Given the description of an element on the screen output the (x, y) to click on. 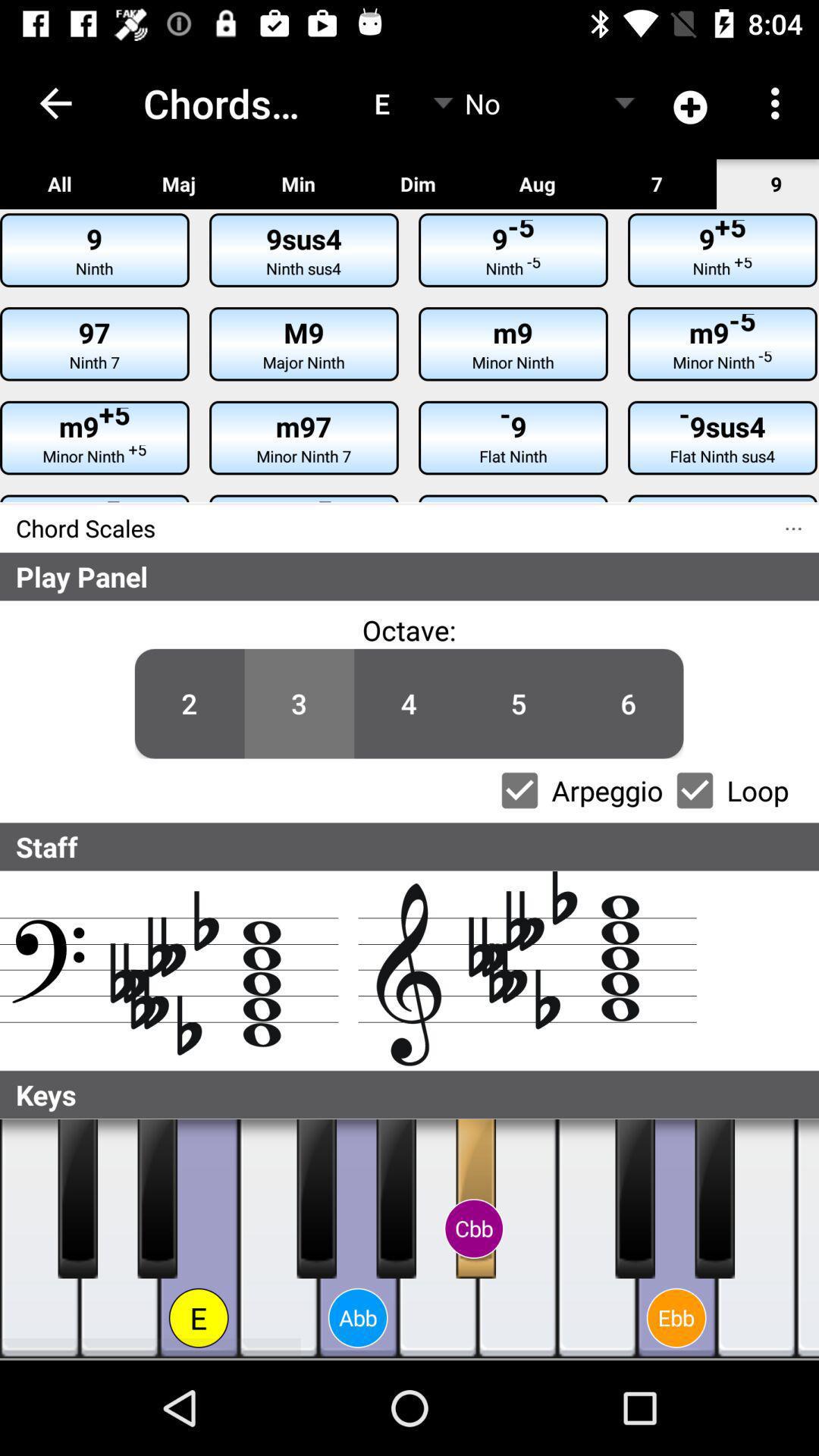
select the left side black color key in the ebb (635, 1198)
3 (298, 703)
click on the music key abb (358, 1238)
